Given the description of an element on the screen output the (x, y) to click on. 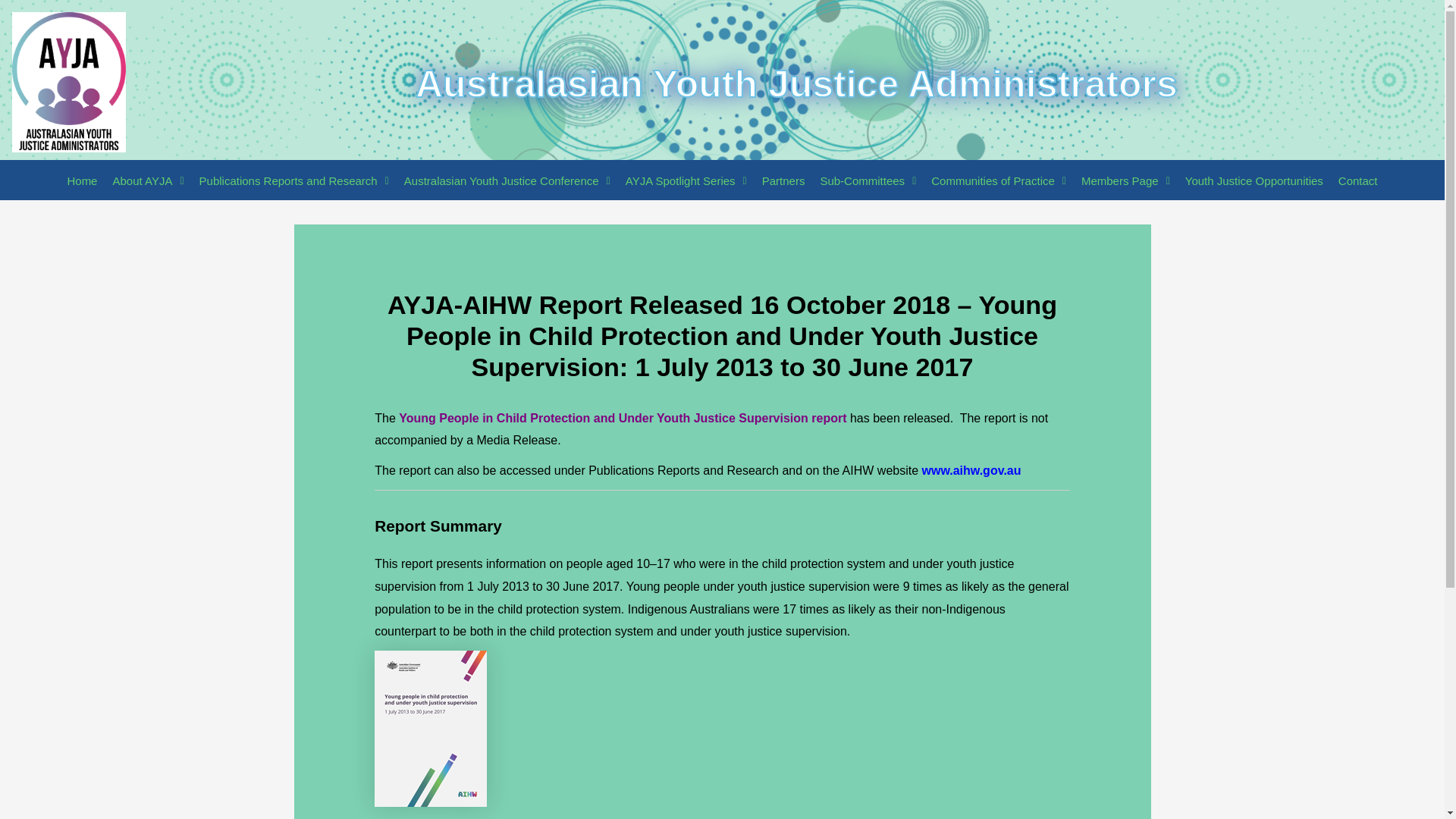
Communities of Practice (998, 180)
Publications Reports and Research (294, 180)
AYJA Spotlight Series (685, 180)
Partners (783, 180)
Members Page (1125, 180)
Sub-Committees (867, 180)
Australasian Youth Justice Conference (506, 180)
Home (81, 180)
About AYJA (147, 180)
